Given the description of an element on the screen output the (x, y) to click on. 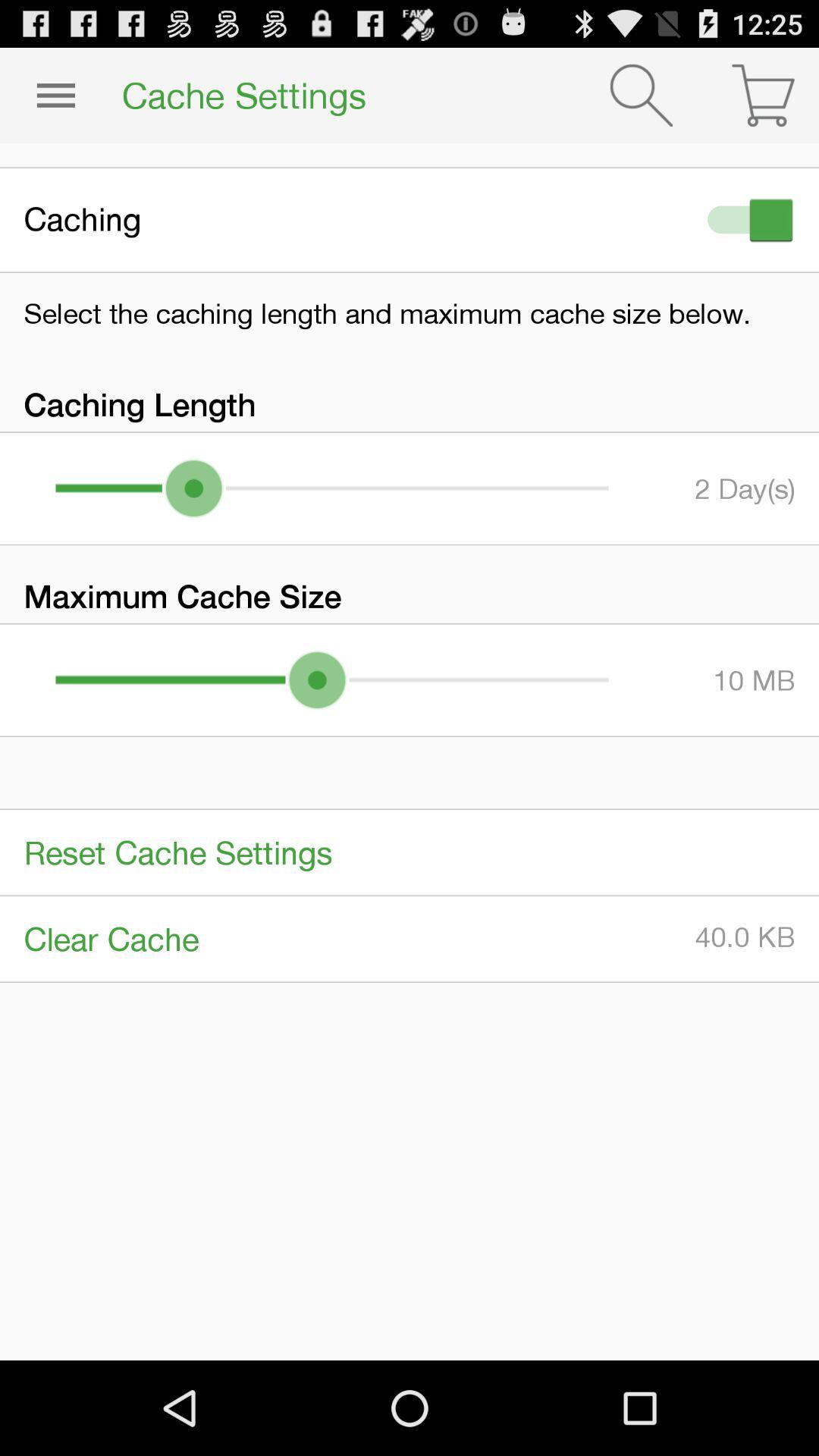
more options (55, 95)
